Given the description of an element on the screen output the (x, y) to click on. 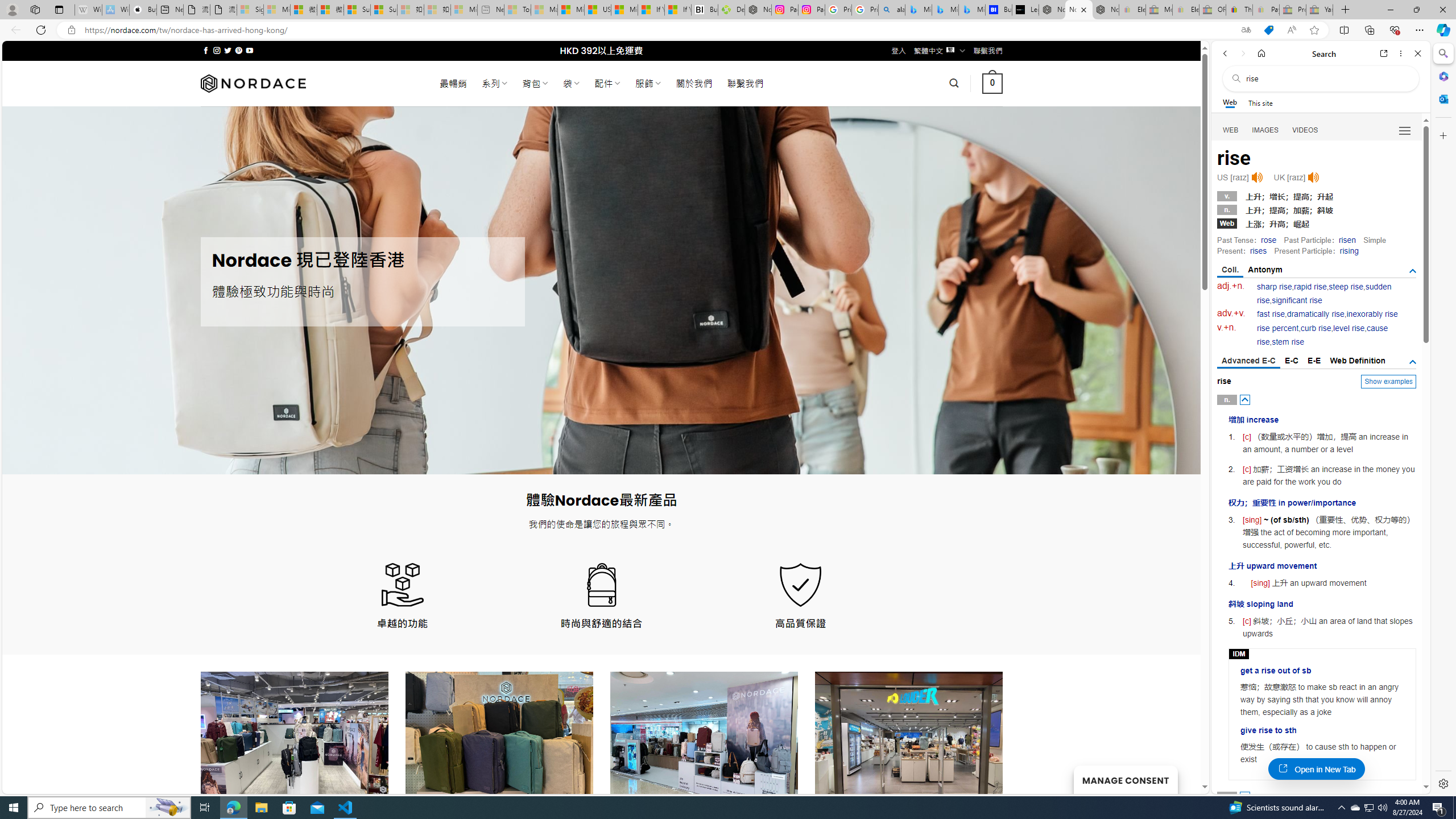
E-C (1291, 360)
Press Room - eBay Inc. - Sleeping (1292, 9)
AutomationID: posbtn_0 (1245, 399)
Microsoft Bing Travel - Shangri-La Hotel Bangkok (971, 9)
Search Filter, VIDEOS (1304, 129)
Follow on Instagram (216, 50)
Top Stories - MSN - Sleeping (517, 9)
